Given the description of an element on the screen output the (x, y) to click on. 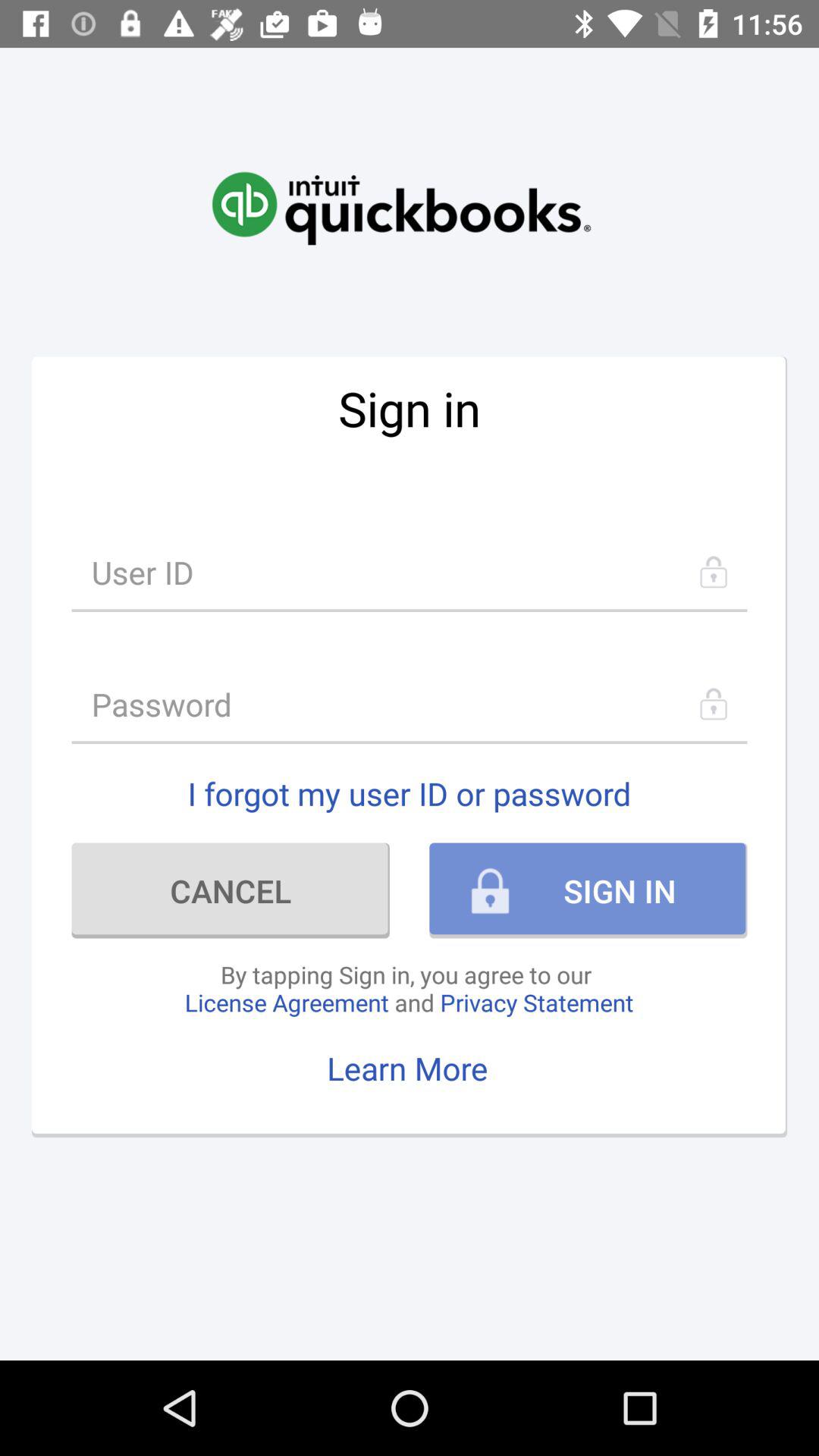
open icon above the by tapping sign (230, 890)
